Given the description of an element on the screen output the (x, y) to click on. 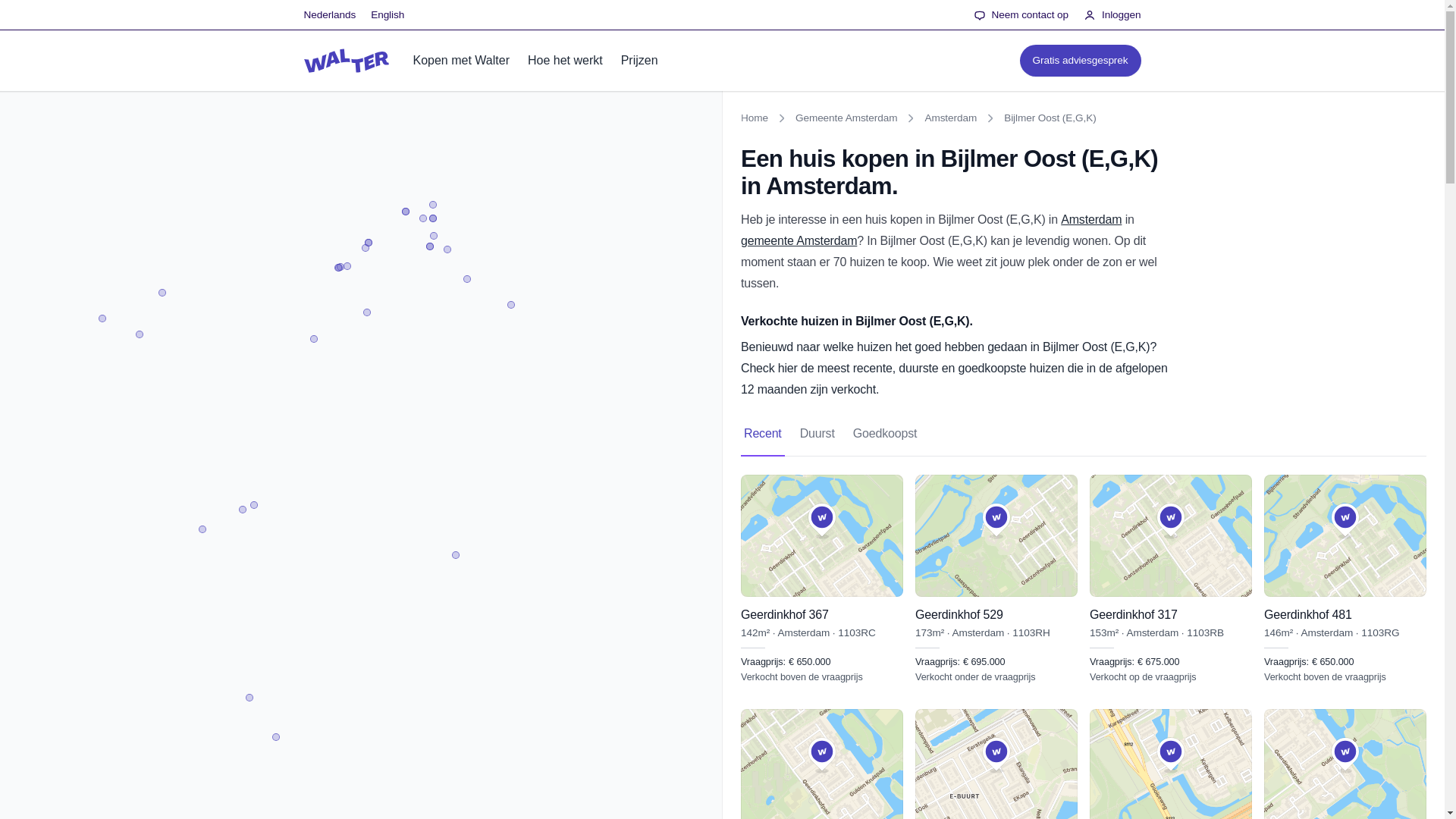
English (1083, 434)
Hoe het werkt (387, 14)
Goedkoopst (564, 60)
Duurst (885, 434)
Geerdinkhof 141, Amsterdam (817, 434)
gemeente Amsterdam (1344, 763)
Geerdinkhof 236, Amsterdam (799, 240)
Goedkoopst (821, 763)
Amsterdam (885, 434)
